Given the description of an element on the screen output the (x, y) to click on. 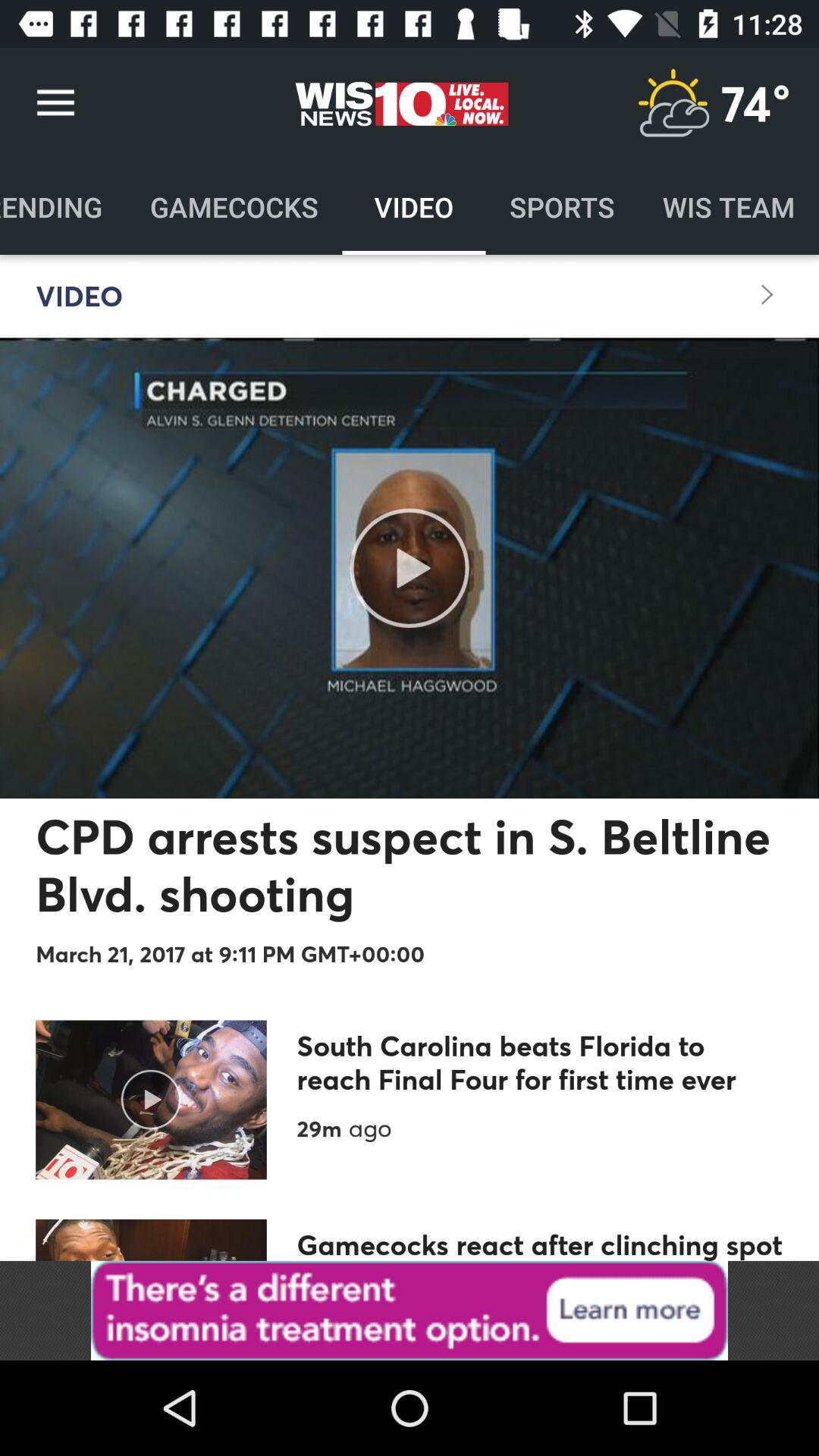
click the climate option (673, 103)
